Given the description of an element on the screen output the (x, y) to click on. 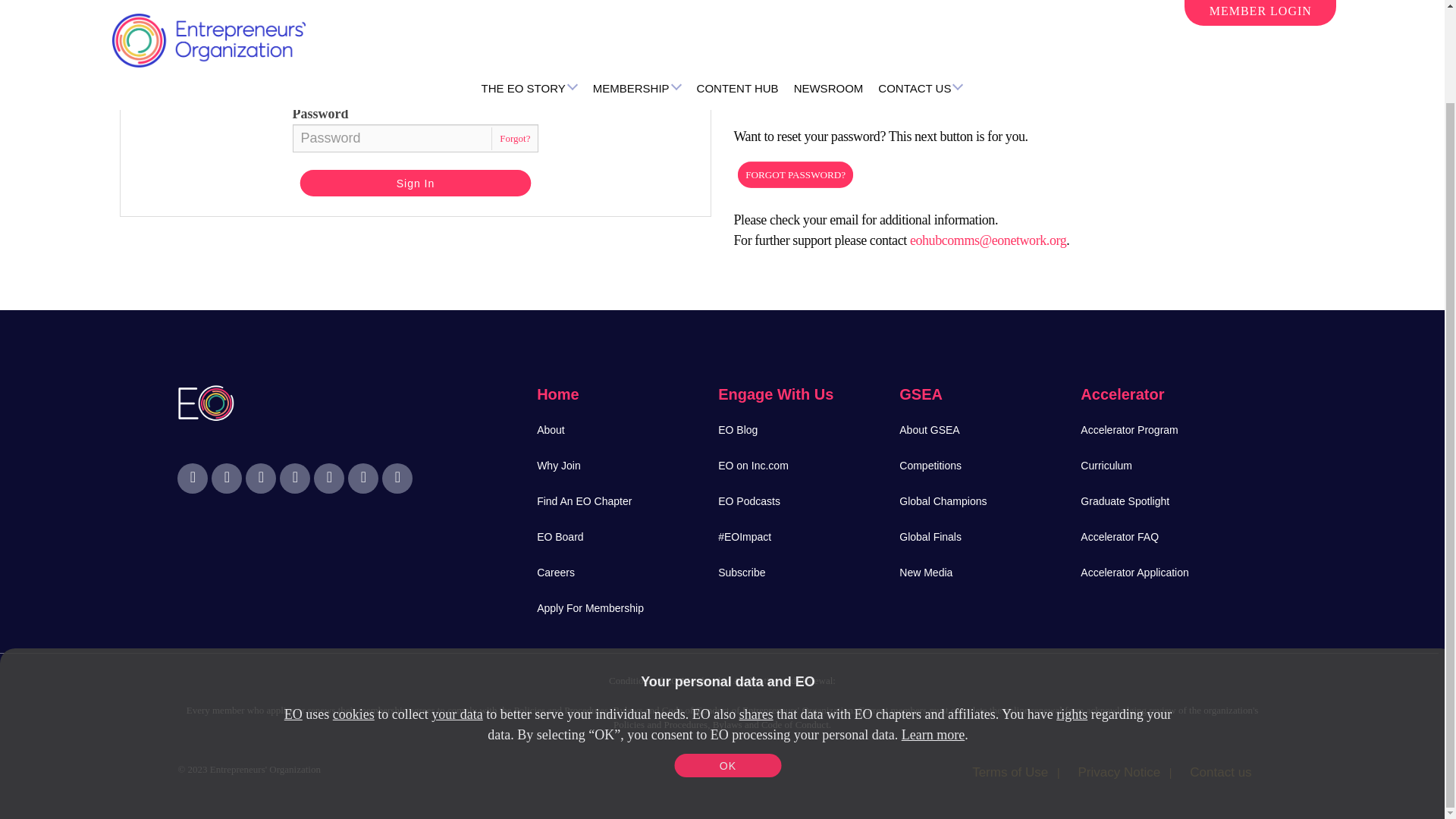
Sign In (421, 183)
